Given the description of an element on the screen output the (x, y) to click on. 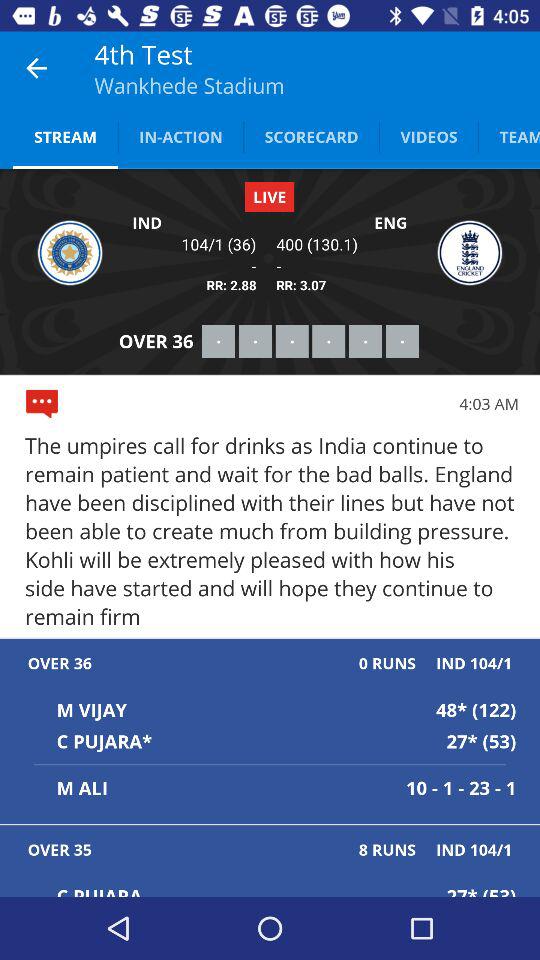
press the icon below wankhede stadium icon (180, 136)
